Given the description of an element on the screen output the (x, y) to click on. 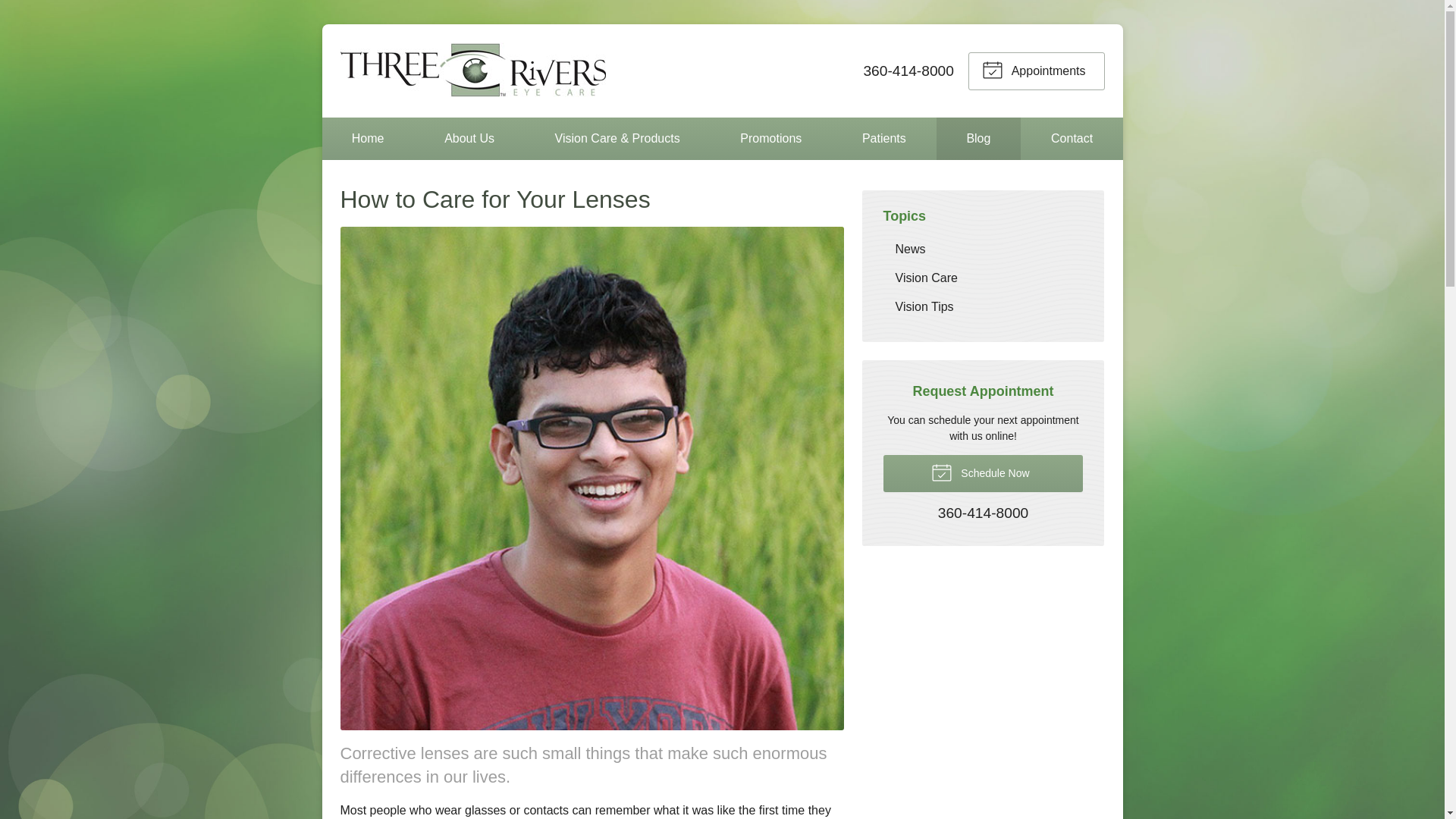
Call practice (908, 69)
Home (367, 138)
Call practice (983, 513)
News (982, 248)
Contact (1072, 138)
Blog (978, 138)
Promotions (770, 138)
Vision Care (982, 277)
Schedule Now (982, 473)
Three Rivers Eye Care (472, 70)
Vision Tips (982, 306)
Patients (884, 138)
Appointments (1035, 70)
Request Appointment (1035, 70)
About Us (469, 138)
